Given the description of an element on the screen output the (x, y) to click on. 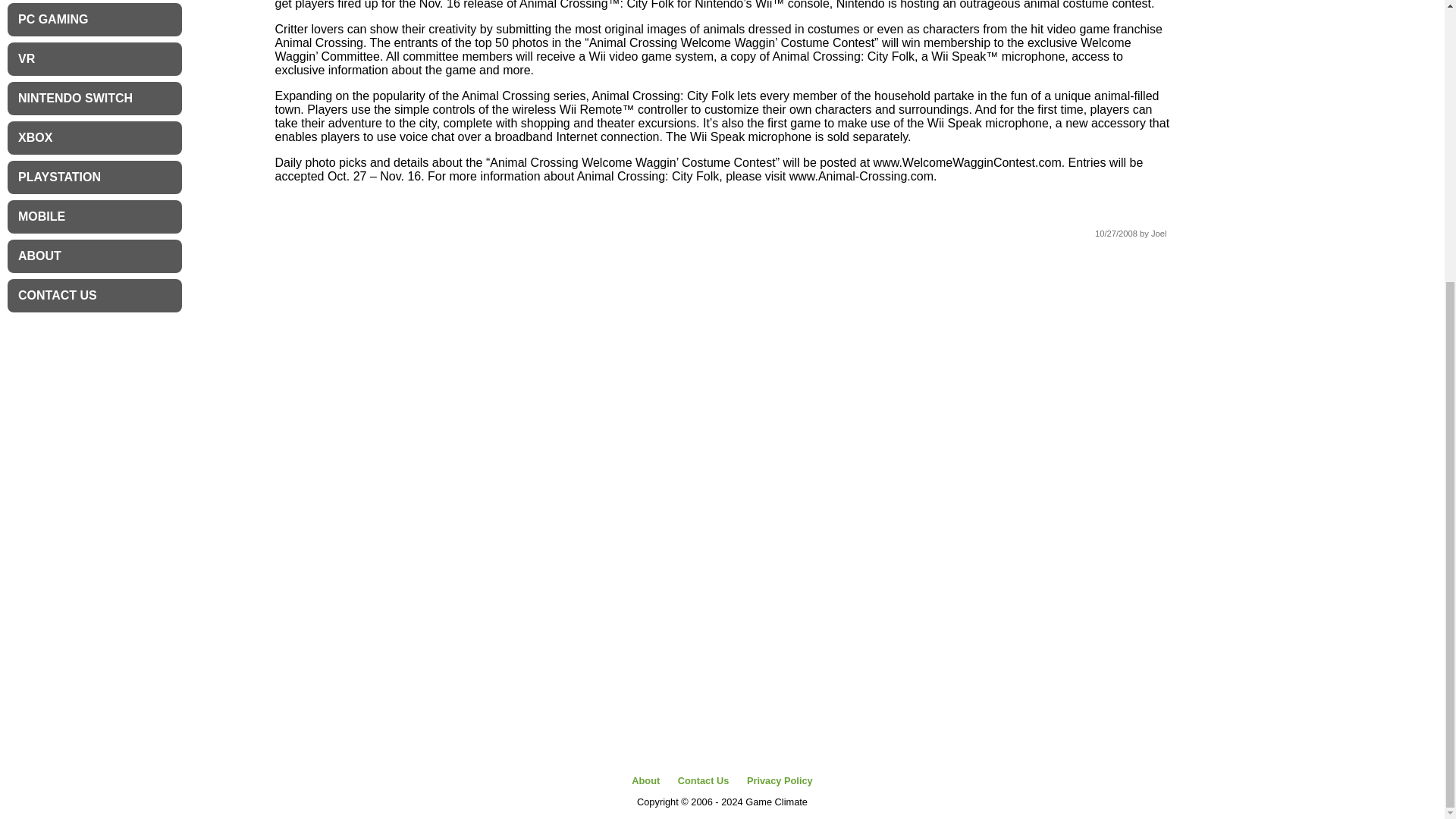
About (645, 780)
PC GAMING (94, 19)
PLAYSTATION (94, 177)
NINTENDO SWITCH (94, 98)
XBOX (94, 137)
MOBILE (94, 216)
Contact Us (703, 780)
ABOUT (94, 255)
VR (94, 59)
Privacy Policy (779, 780)
CONTACT US (94, 295)
